Given the description of an element on the screen output the (x, y) to click on. 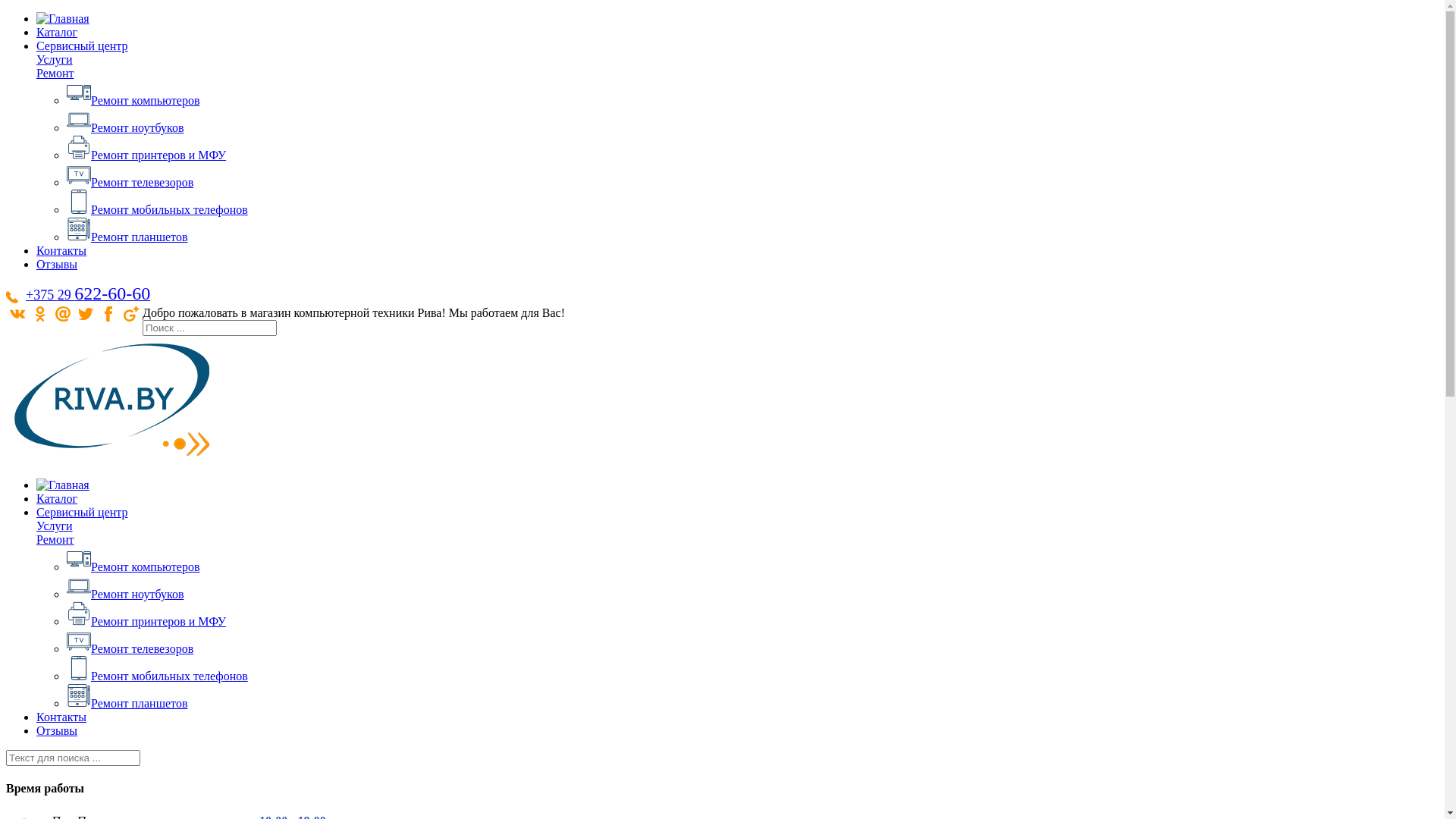
+375 29 622-60-60 Element type: text (87, 293)
